Given the description of an element on the screen output the (x, y) to click on. 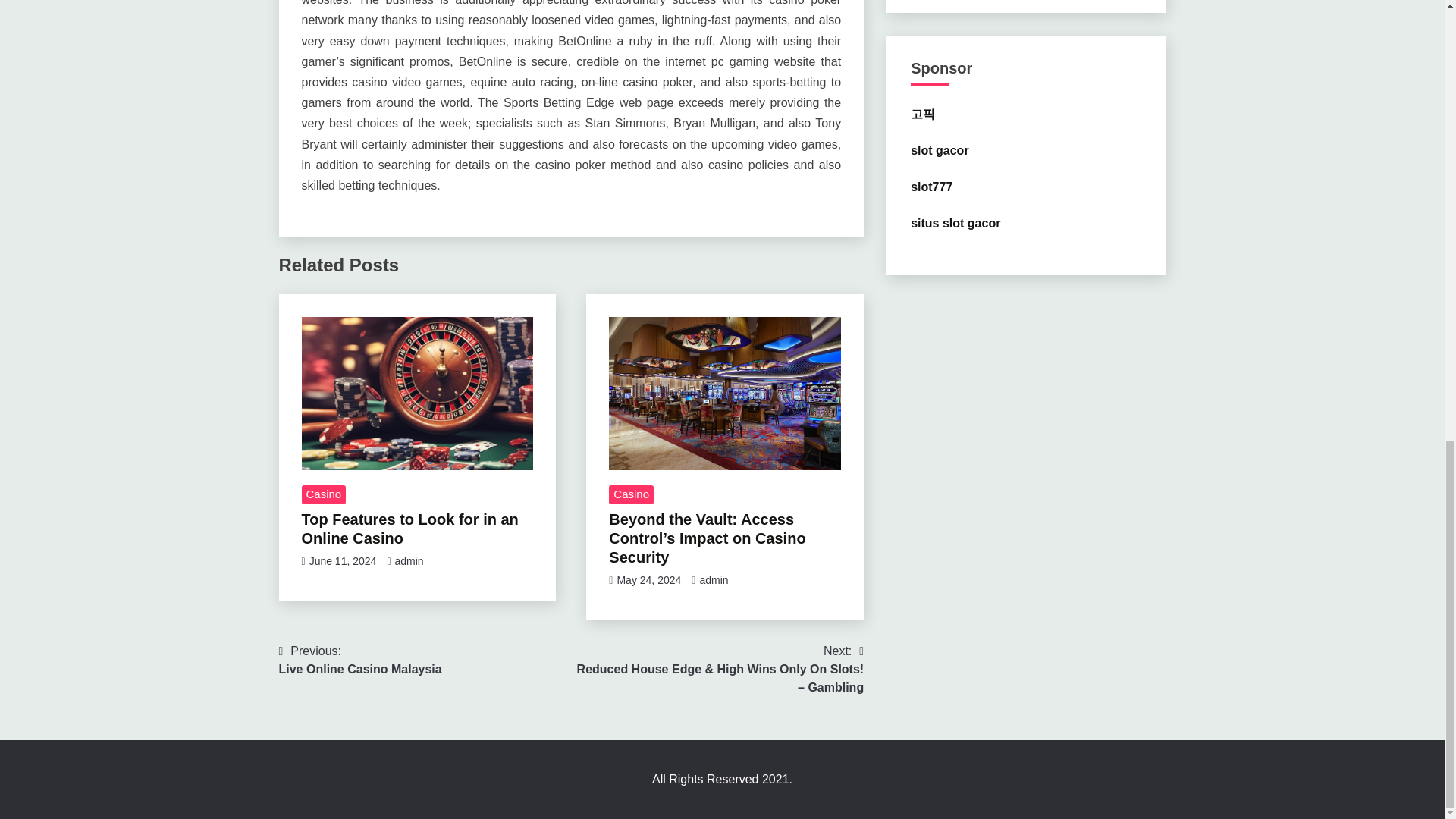
June 11, 2024 (342, 561)
Casino (630, 495)
Casino (323, 495)
admin (713, 580)
admin (408, 561)
Top Features to Look for in an Online Casino (409, 529)
May 24, 2024 (360, 660)
